Given the description of an element on the screen output the (x, y) to click on. 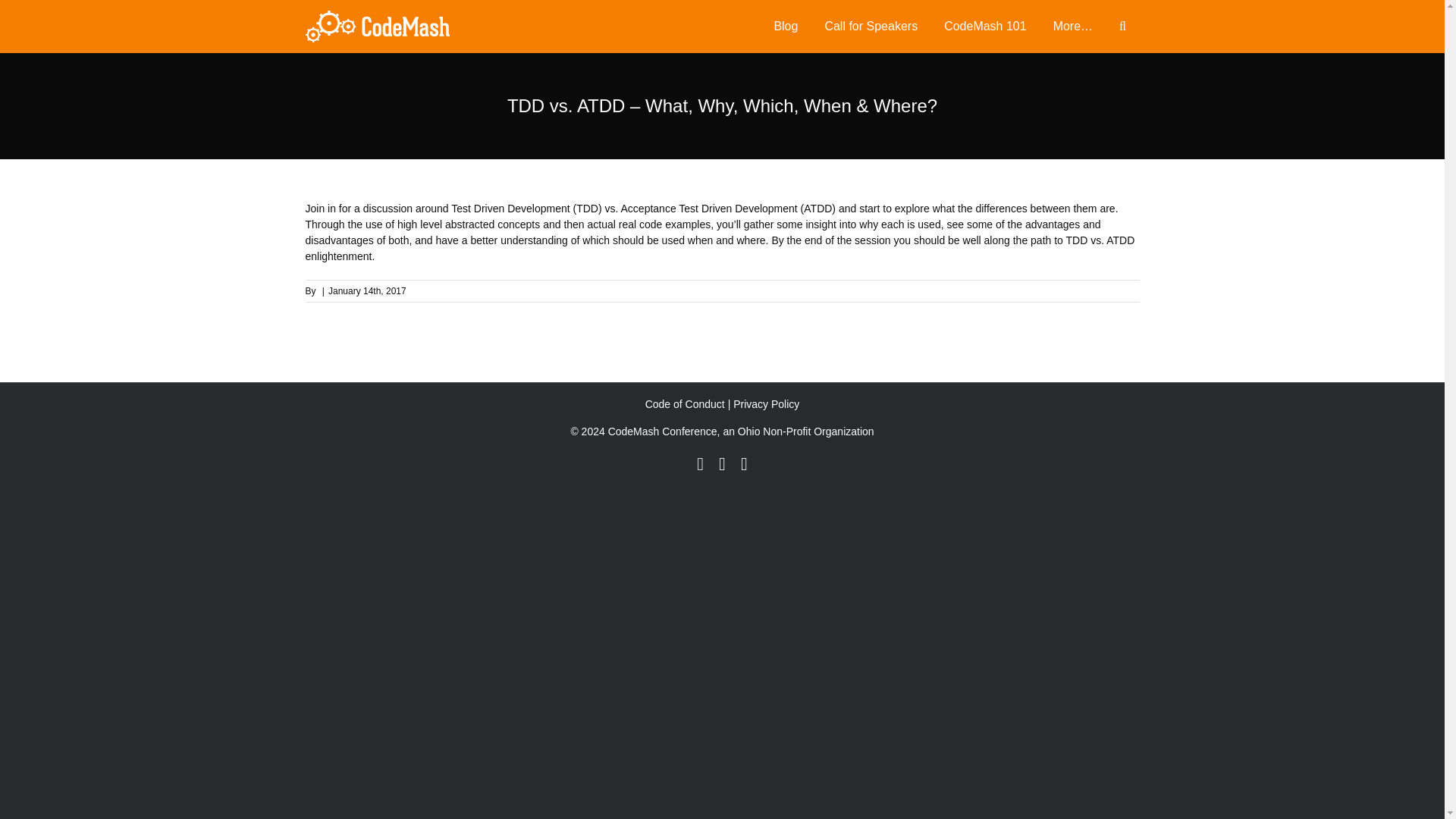
Privacy Policy (766, 404)
Call for Speakers (870, 26)
Blog (785, 26)
Code of Conduct (685, 404)
CodeMash 101 (986, 26)
